Given the description of an element on the screen output the (x, y) to click on. 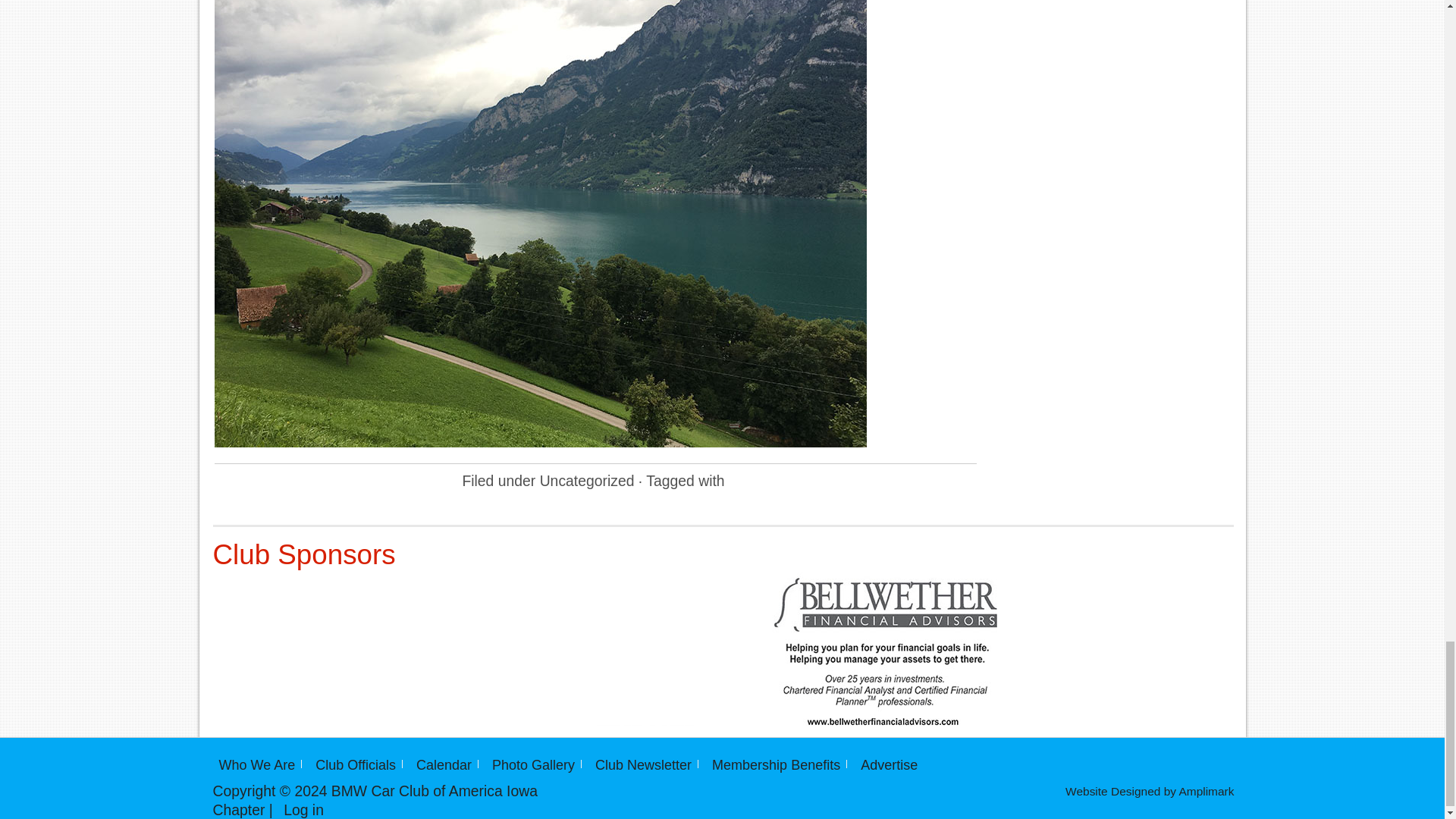
Who We Are (253, 765)
Club Officials (352, 765)
Website Designed by Amplimark (1145, 790)
Club Newsletter (639, 765)
Calendar (440, 765)
Membership Benefits (772, 765)
Event Calendar (440, 765)
Club Officials (352, 765)
Photo Gallery (529, 765)
Membership Benefits (772, 765)
Photo Gallery (529, 765)
Log in (299, 809)
Who We Are (253, 765)
Club Newsletter (639, 765)
Advertise with us (885, 765)
